Given the description of an element on the screen output the (x, y) to click on. 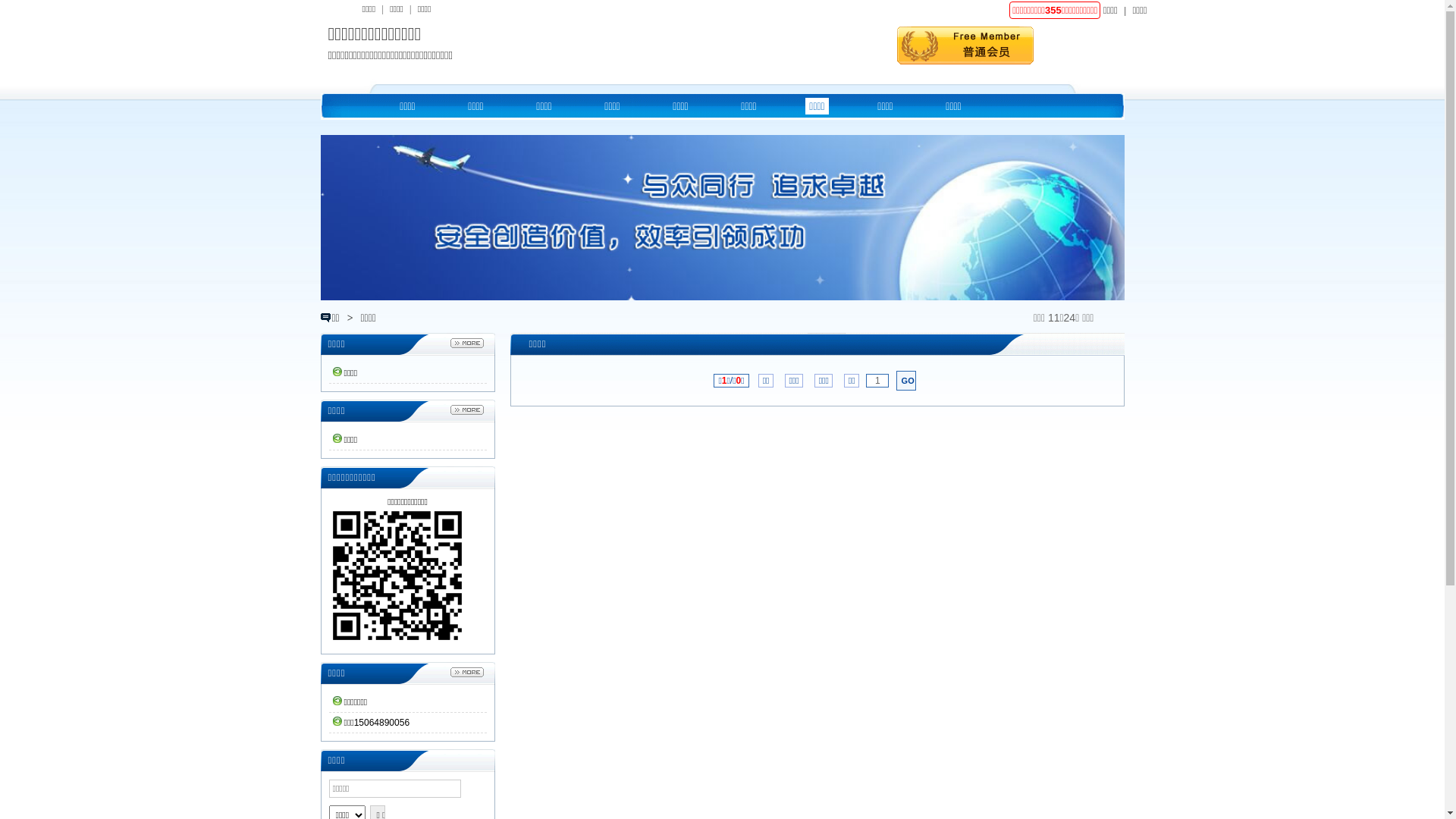
GO Element type: text (906, 380)
